Given the description of an element on the screen output the (x, y) to click on. 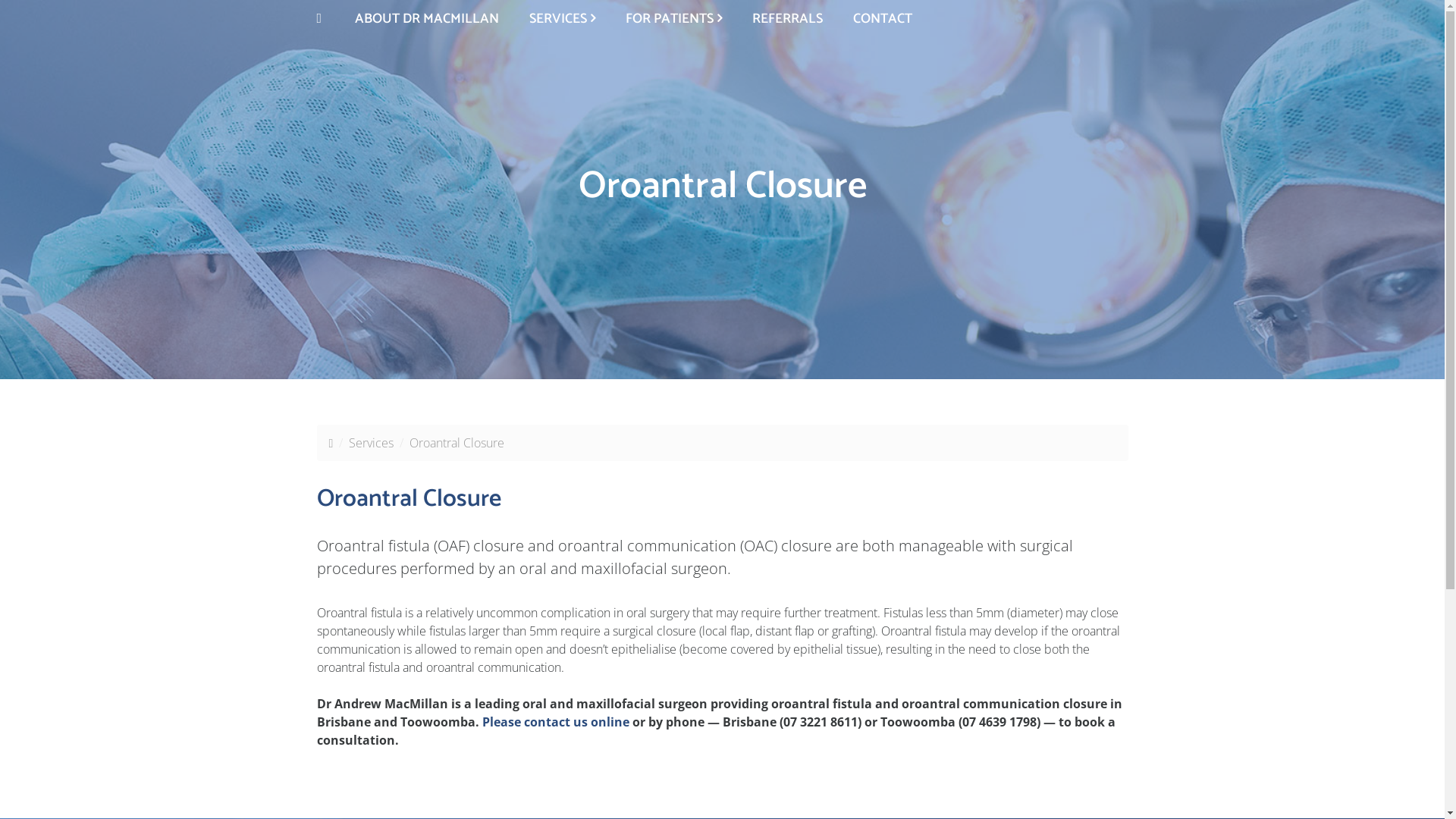
Please contact us online Element type: text (555, 721)
SERVICES Element type: text (562, 18)
CONTACT Element type: text (882, 18)
REFERRALS Element type: text (787, 18)
Services Element type: text (370, 442)
ABOUT DR MACMILLAN Element type: text (426, 18)
Oroantral Closure Element type: text (456, 442)
07 3221 8611 Element type: text (819, 721)
FOR PATIENTS Element type: text (673, 18)
07 4639 1798 Element type: text (998, 721)
